Given the description of an element on the screen output the (x, y) to click on. 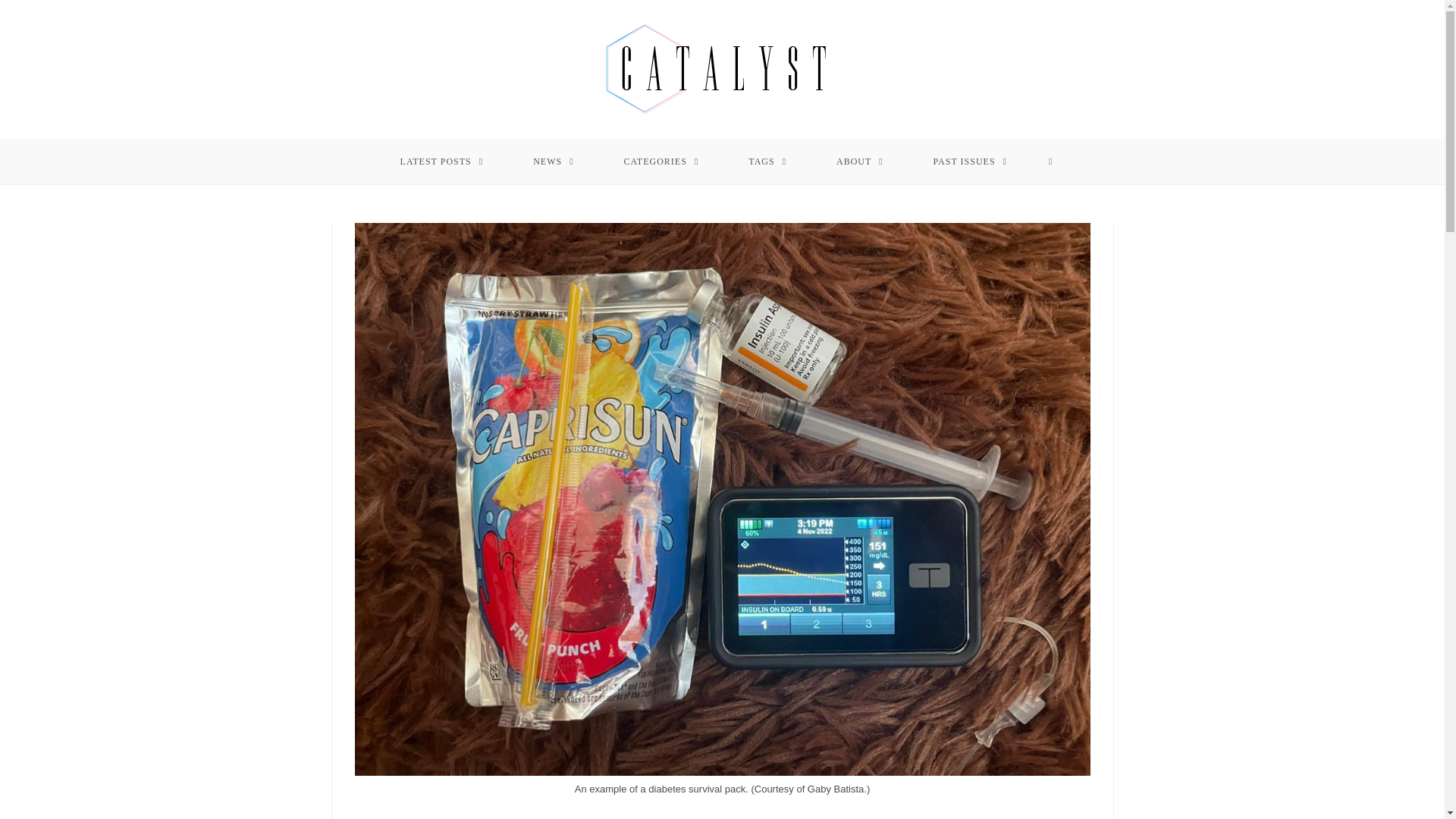
LATEST POSTS (441, 161)
TAGS (766, 161)
ABOUT (859, 161)
NEWS (553, 161)
PAST ISSUES (970, 161)
CATEGORIES (660, 161)
